Given the description of an element on the screen output the (x, y) to click on. 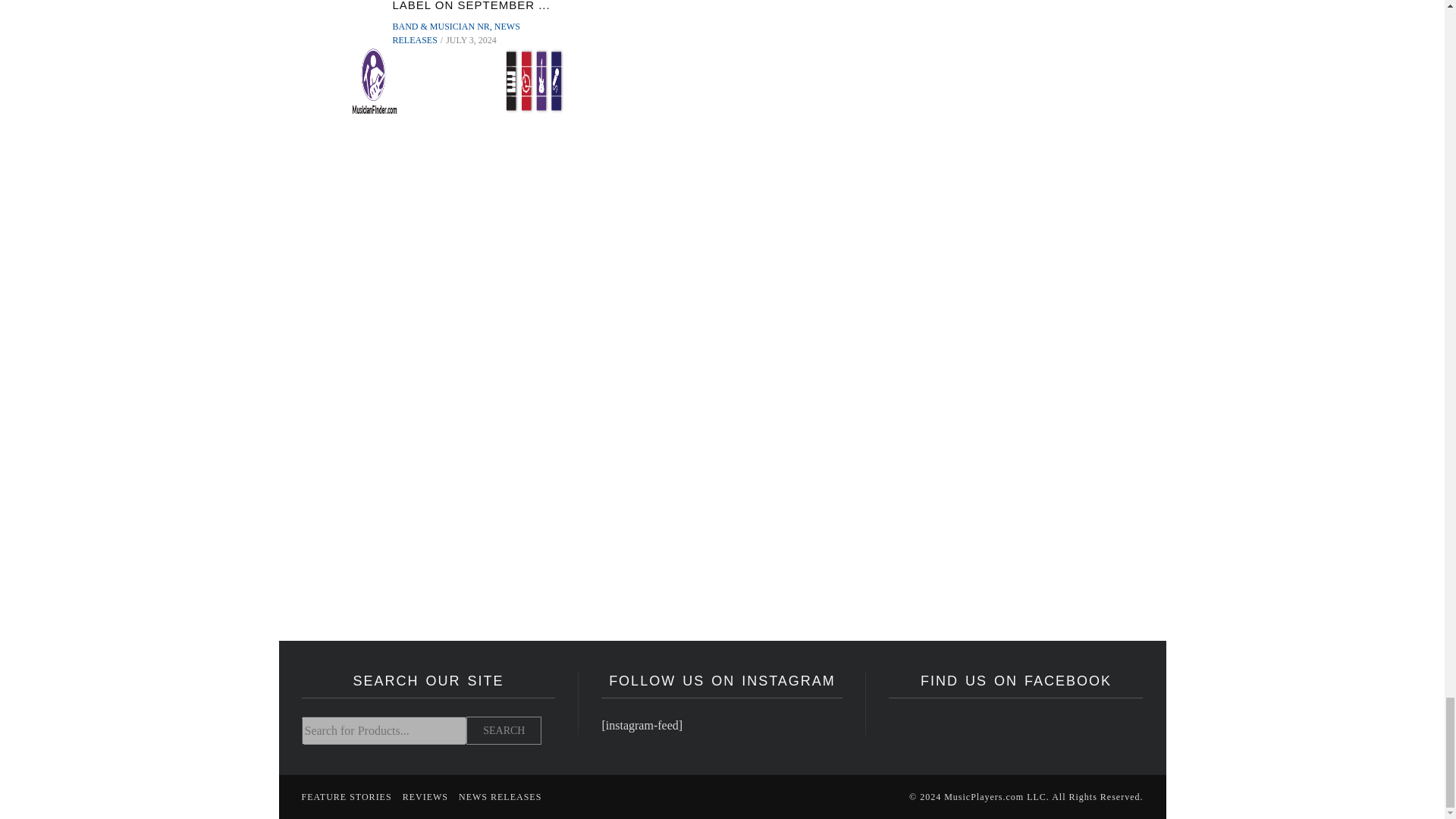
Search (503, 730)
